Given the description of an element on the screen output the (x, y) to click on. 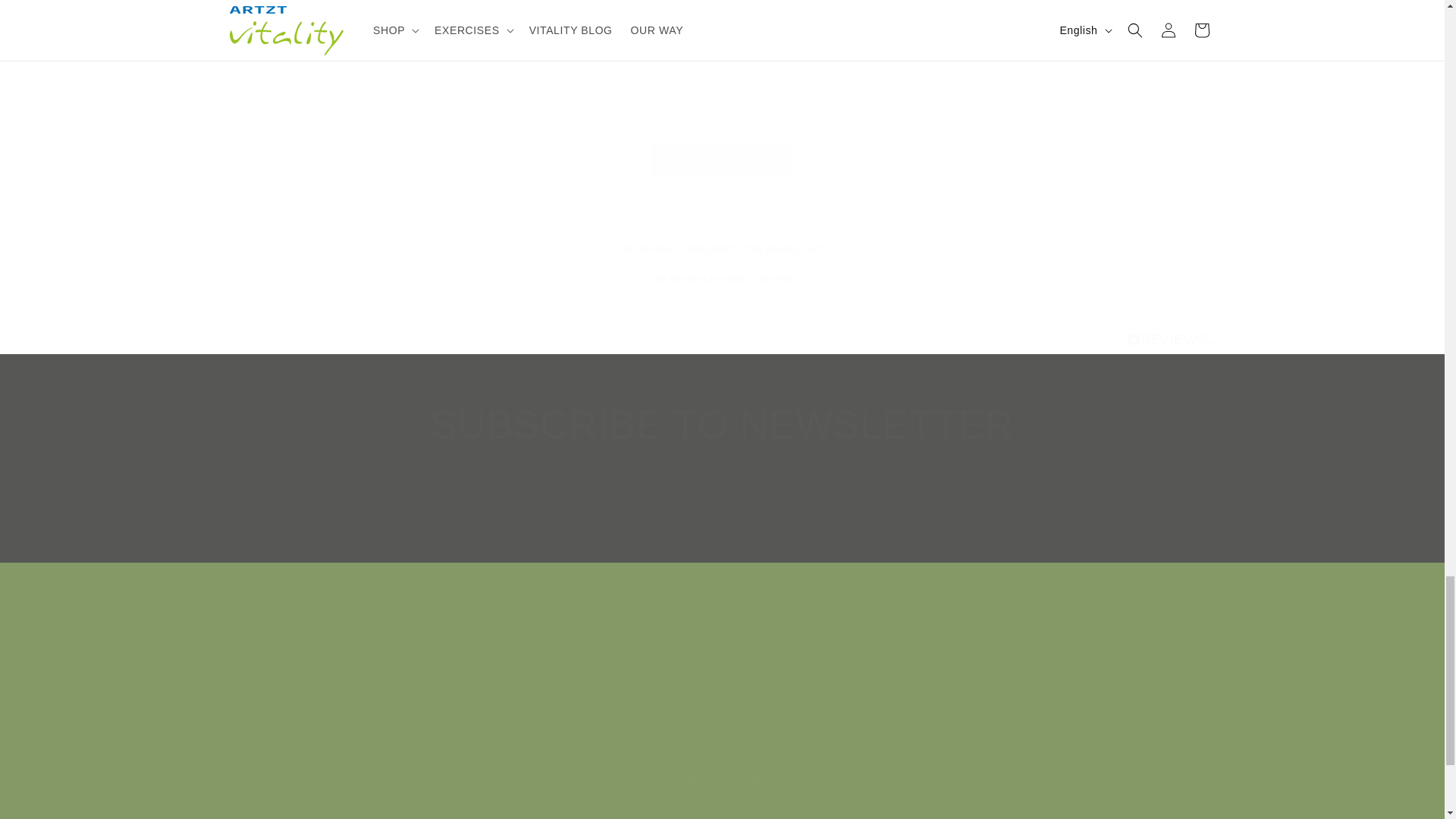
Email (722, 520)
SUBSCRIBE TO NEWSLETTER (721, 425)
